Given the description of an element on the screen output the (x, y) to click on. 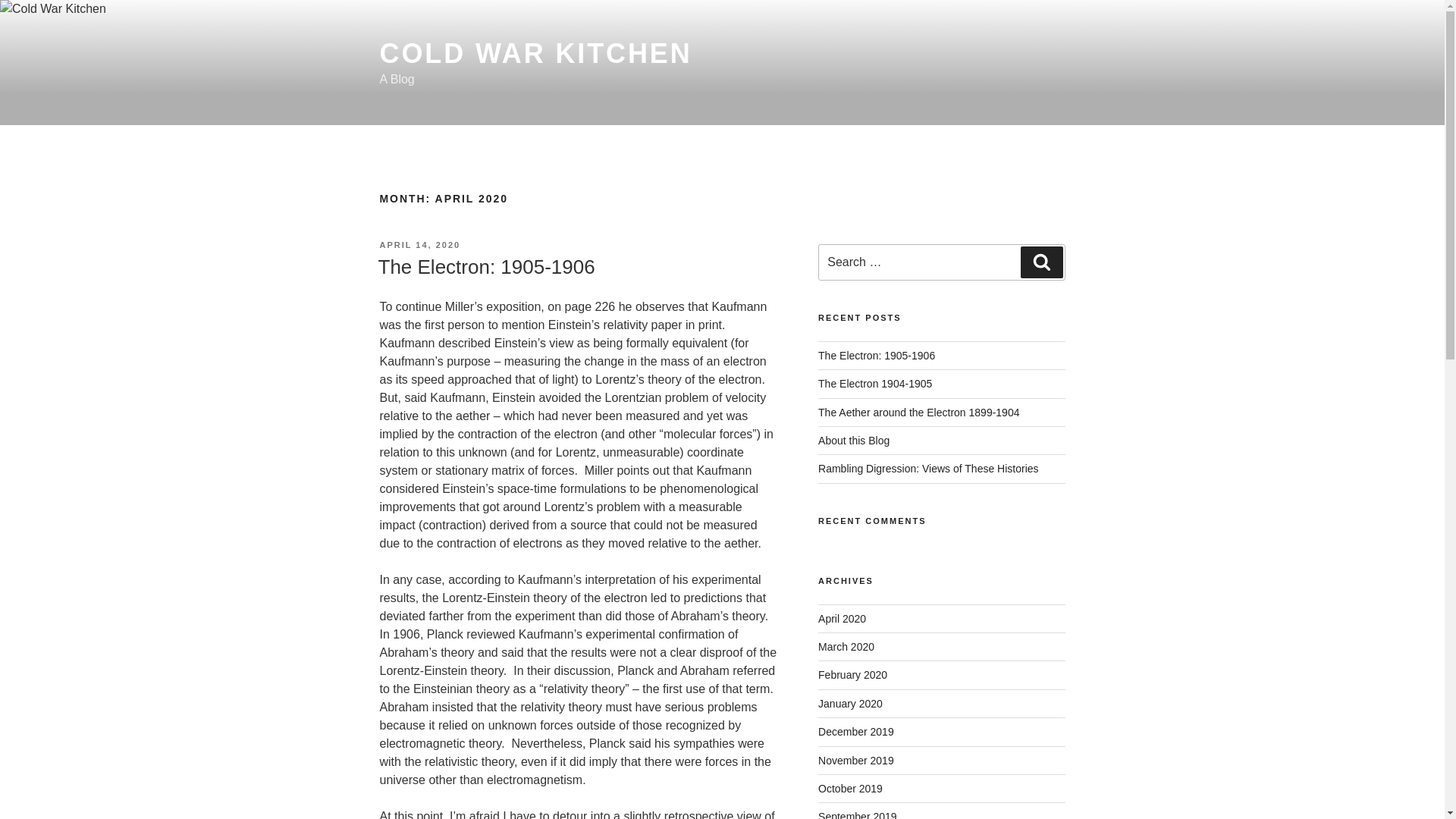
The Aether around the Electron 1899-1904 (918, 412)
January 2020 (850, 703)
Rambling Digression: Views of These Histories (928, 468)
COLD WAR KITCHEN (534, 52)
December 2019 (855, 731)
September 2019 (857, 814)
March 2020 (846, 646)
The Electron: 1905-1906 (485, 266)
October 2019 (850, 788)
The Electron: 1905-1906 (876, 355)
